Given the description of an element on the screen output the (x, y) to click on. 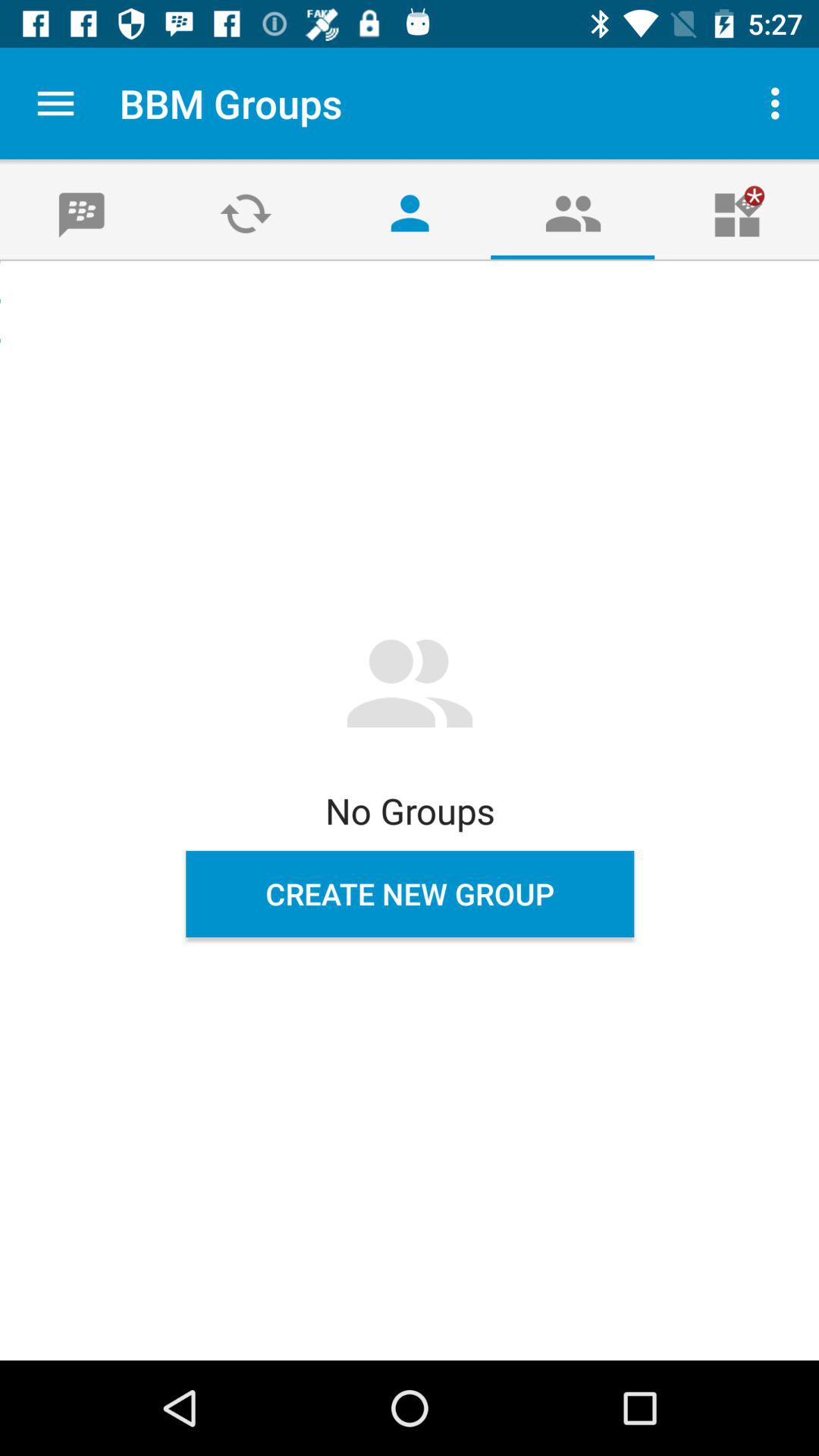
turn off the icon below the no groups (409, 893)
